Given the description of an element on the screen output the (x, y) to click on. 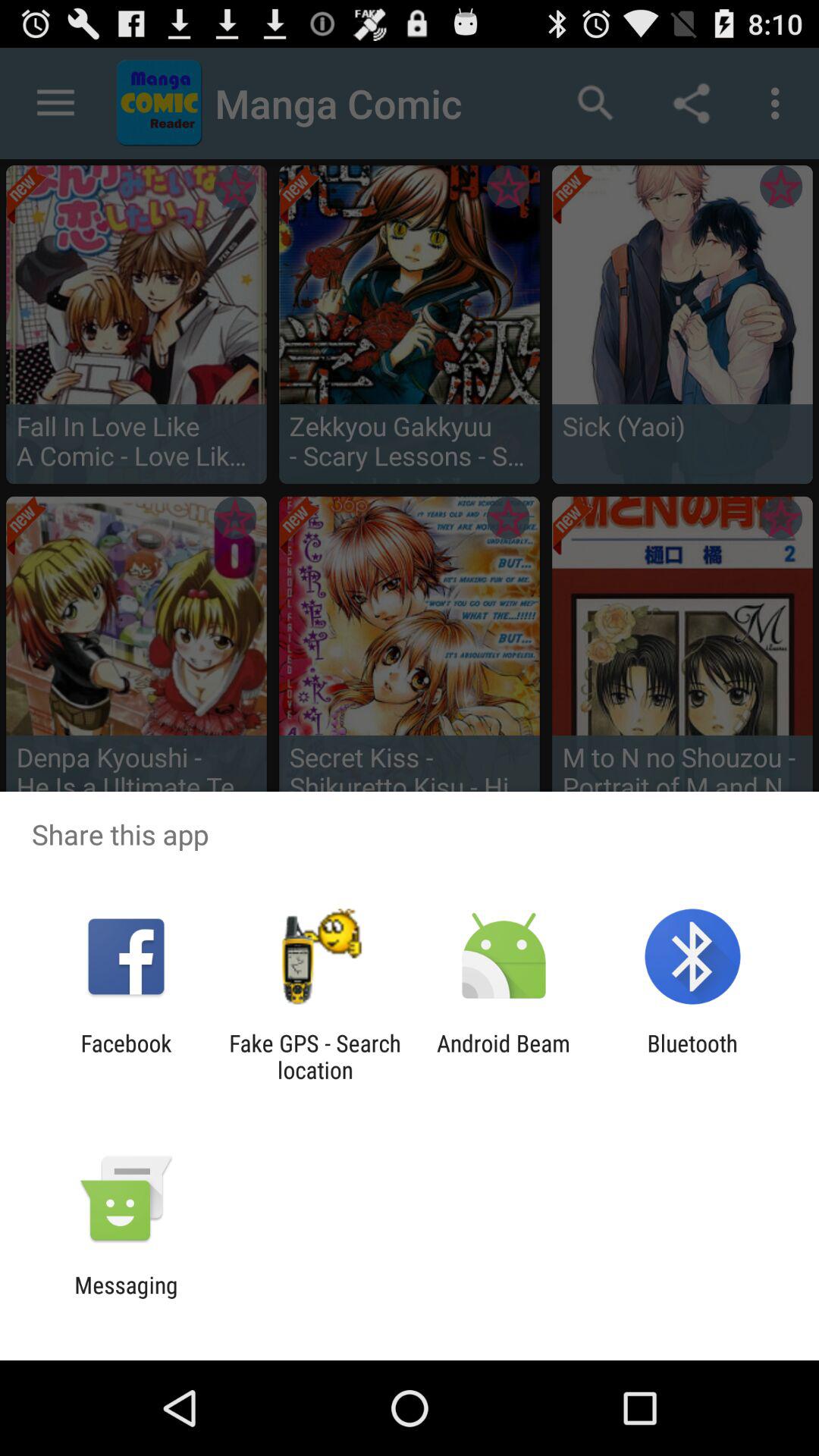
press item next to the fake gps search icon (125, 1056)
